Given the description of an element on the screen output the (x, y) to click on. 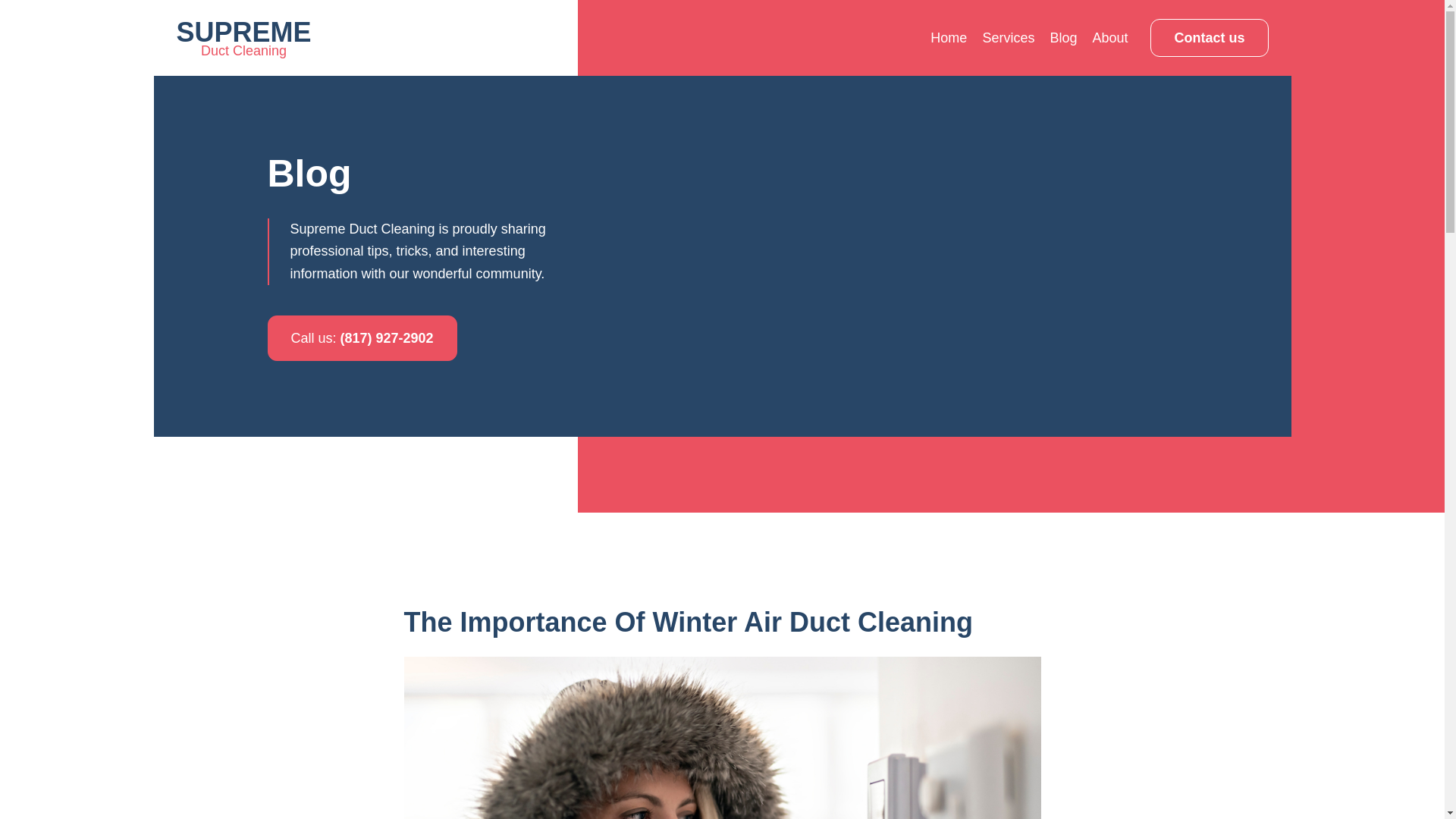
About (1109, 37)
Services (1007, 37)
Contact us (1209, 37)
Home (243, 37)
Blog (948, 37)
